Given the description of an element on the screen output the (x, y) to click on. 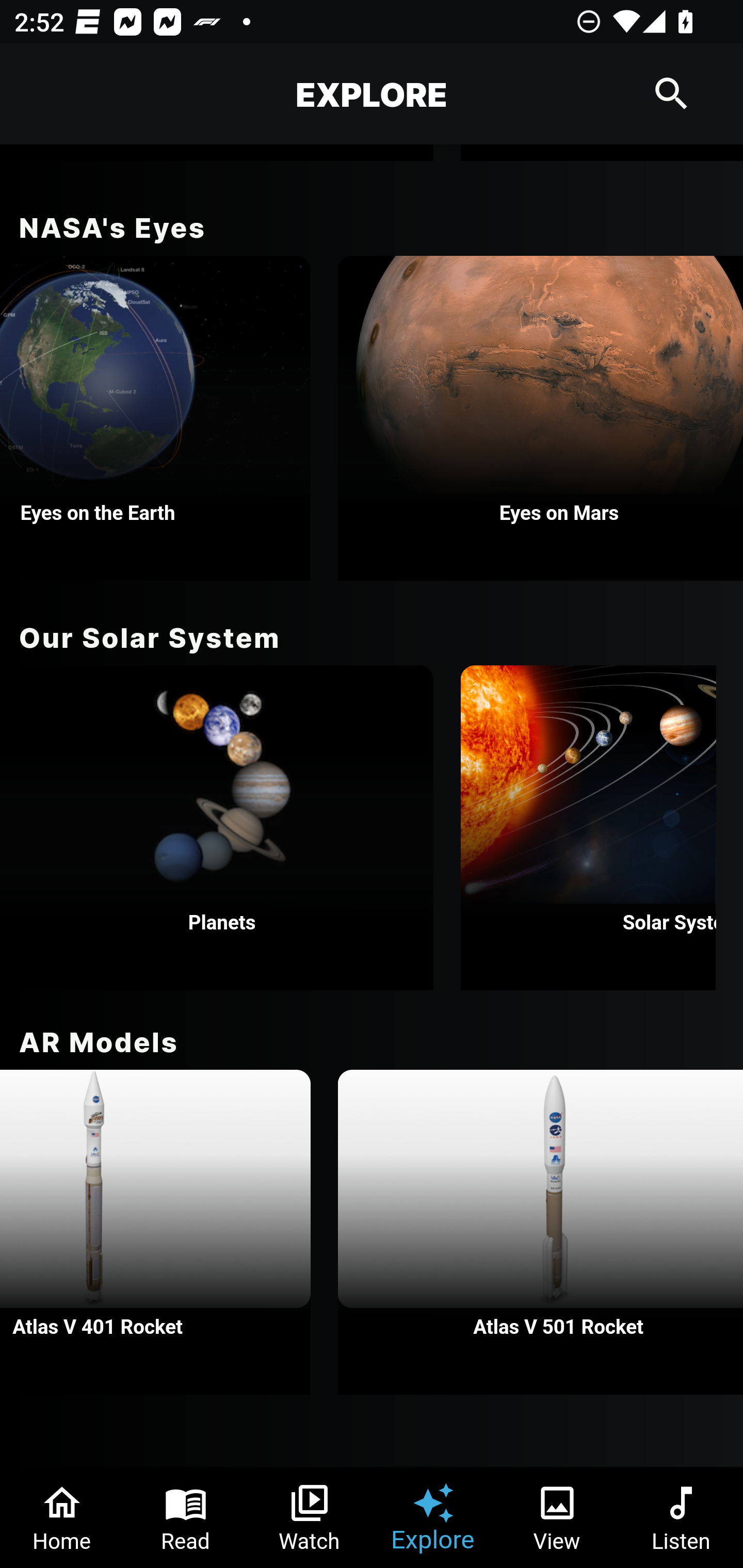
Eyes on the Earth (155, 417)
Eyes on Mars (540, 417)
Planets (216, 827)
Solar System (588, 827)
Atlas V 401 Rocket (155, 1231)
Atlas V 501 Rocket (540, 1231)
Home
Tab 1 of 6 (62, 1517)
Read
Tab 2 of 6 (185, 1517)
Watch
Tab 3 of 6 (309, 1517)
Explore
Tab 4 of 6 (433, 1517)
View
Tab 5 of 6 (556, 1517)
Listen
Tab 6 of 6 (680, 1517)
